Given the description of an element on the screen output the (x, y) to click on. 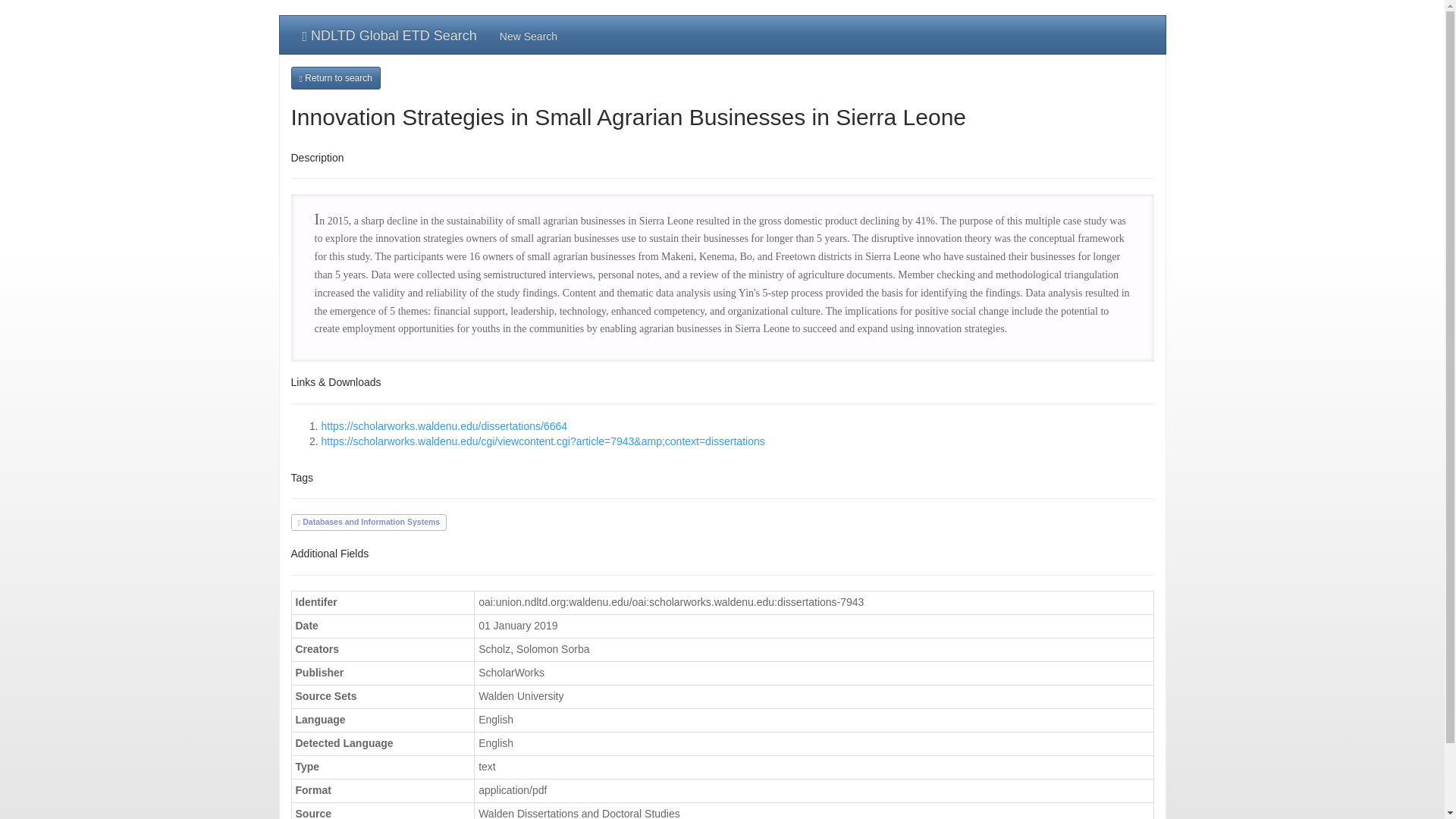
Databases and Information Systems (368, 521)
New Search (528, 34)
NDLTD Global ETD Search (389, 34)
Return to search (335, 77)
